Given the description of an element on the screen output the (x, y) to click on. 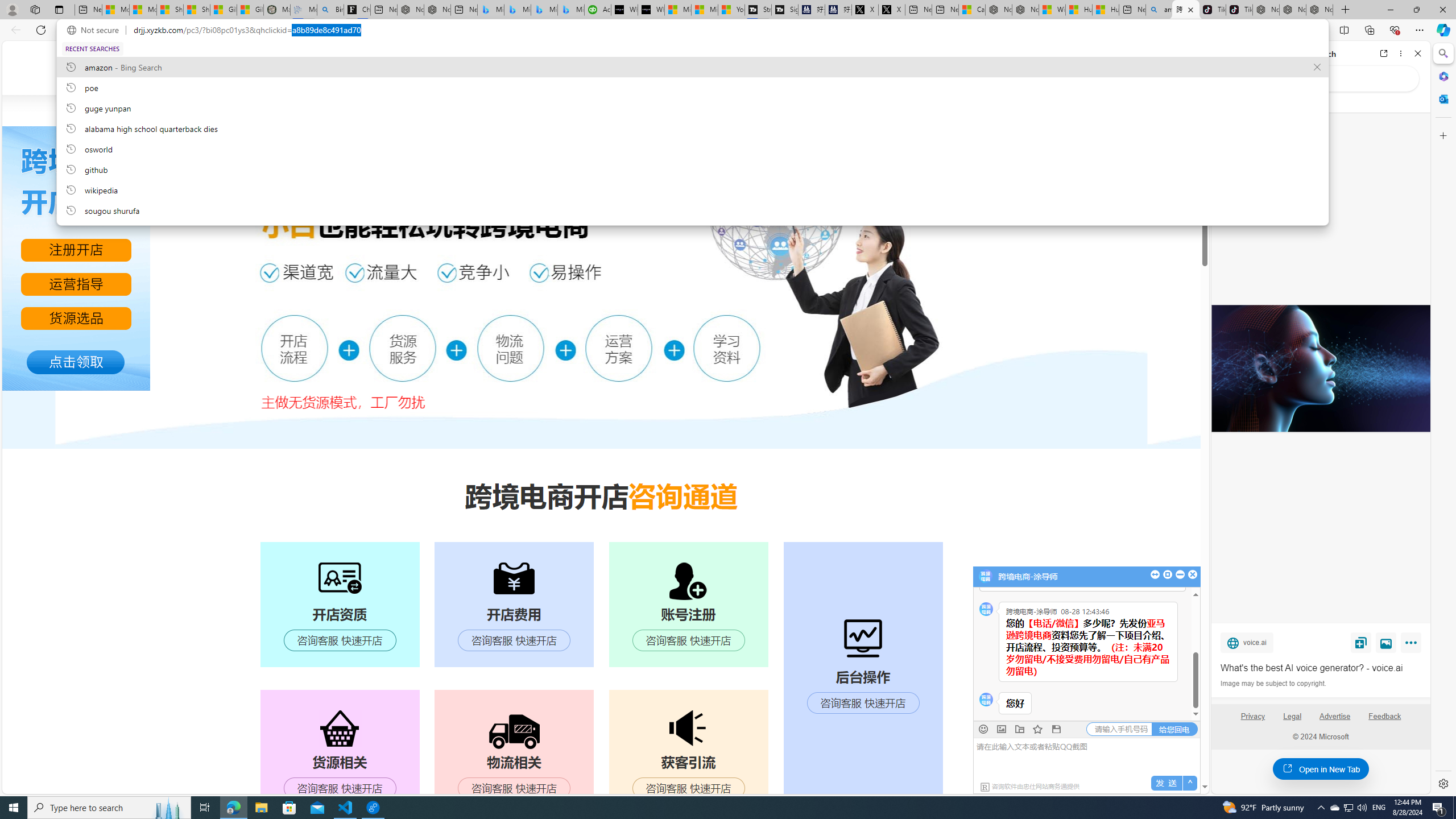
View image (1385, 642)
wikipedia, recent searches from history (691, 189)
